Given the description of an element on the screen output the (x, y) to click on. 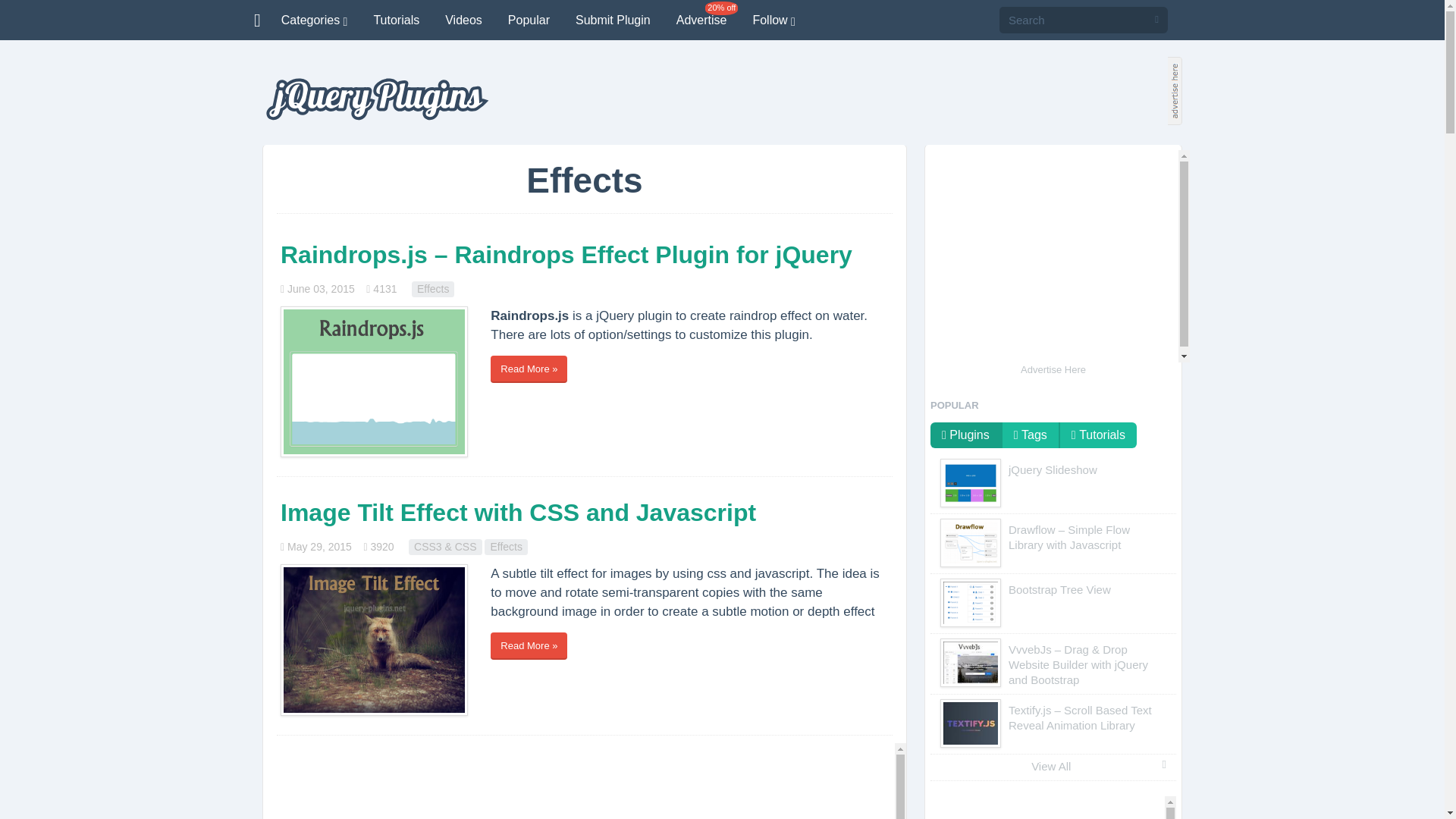
Advertisement (584, 780)
Categories (314, 20)
Submit Plugin (612, 20)
Videos (463, 20)
Popular (528, 20)
Advertisement (1053, 255)
Tutorials (395, 20)
